Given the description of an element on the screen output the (x, y) to click on. 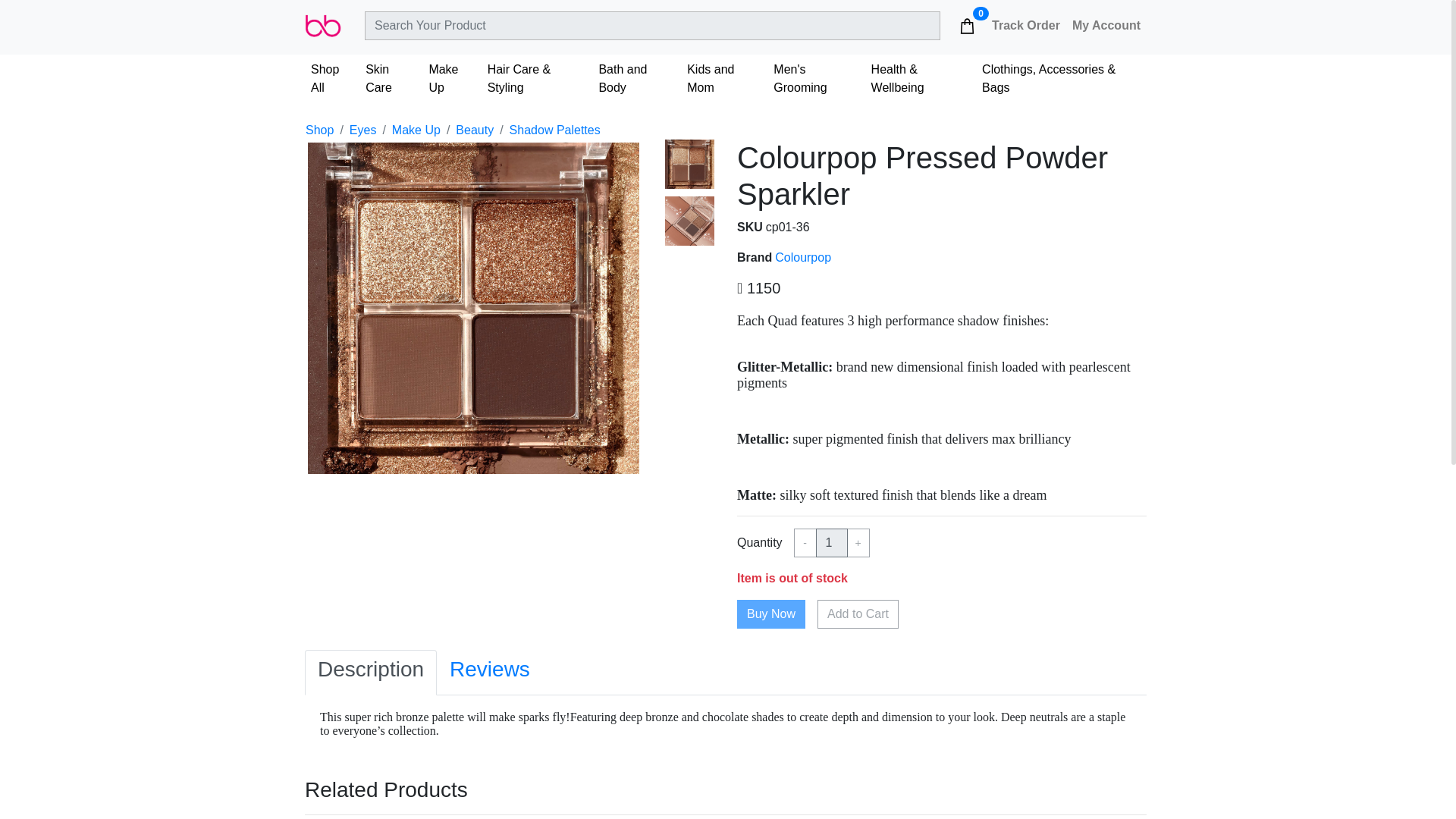
Buy Now (770, 613)
1 (831, 542)
Bath and Body (636, 78)
Kids and Mom (724, 78)
Men's Grooming (815, 78)
Track Order (1025, 25)
My Account (1106, 25)
Make Up (451, 78)
Shop All (331, 78)
Skin Care (390, 78)
